Given the description of an element on the screen output the (x, y) to click on. 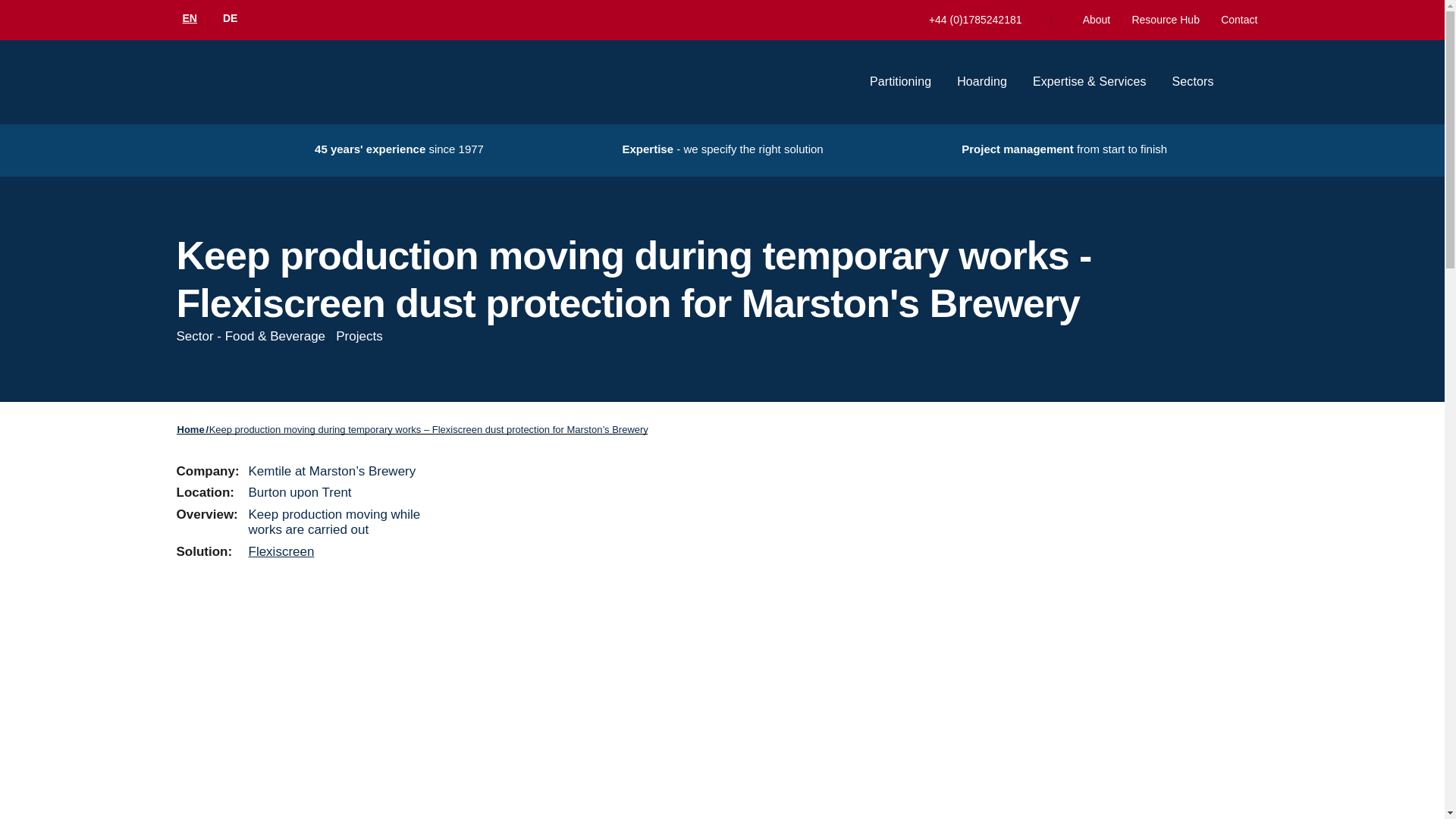
Partitioning (900, 81)
Home (191, 429)
Twitter (216, 605)
Contact (1238, 20)
About (1096, 20)
LinkedIn (189, 605)
Hoarding (981, 81)
Facebook (239, 605)
Resource Hub (1165, 20)
Sectors (1192, 81)
